Given the description of an element on the screen output the (x, y) to click on. 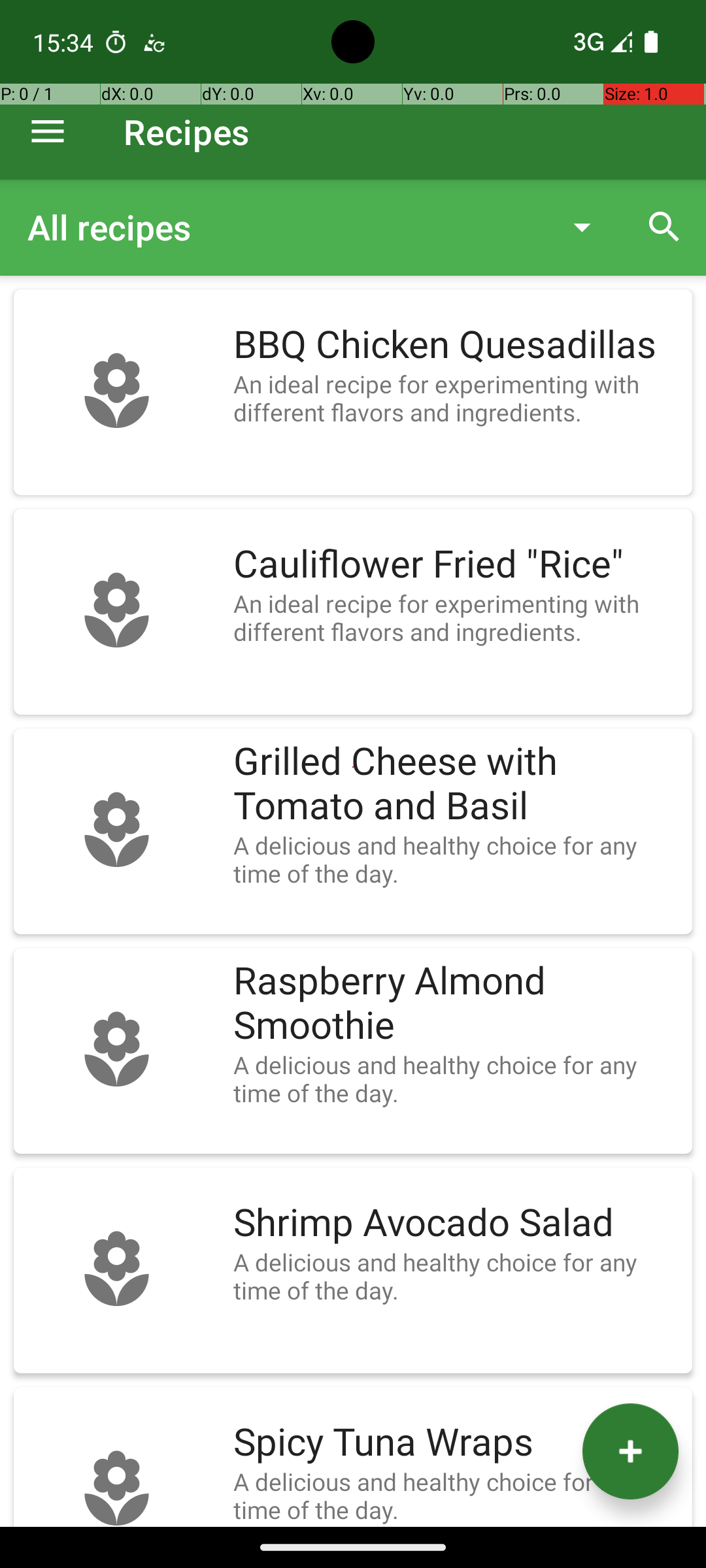
Raspberry Almond Smoothie Element type: android.widget.TextView (455, 1003)
Shrimp Avocado Salad Element type: android.widget.TextView (455, 1222)
Spicy Tuna Wraps Element type: android.widget.TextView (455, 1442)
